Given the description of an element on the screen output the (x, y) to click on. 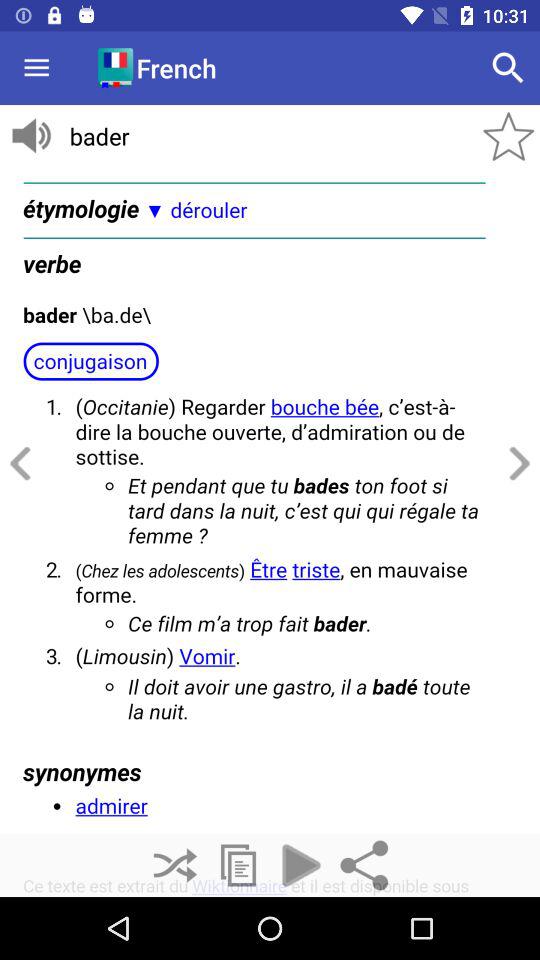
go to new page (238, 865)
